Given the description of an element on the screen output the (x, y) to click on. 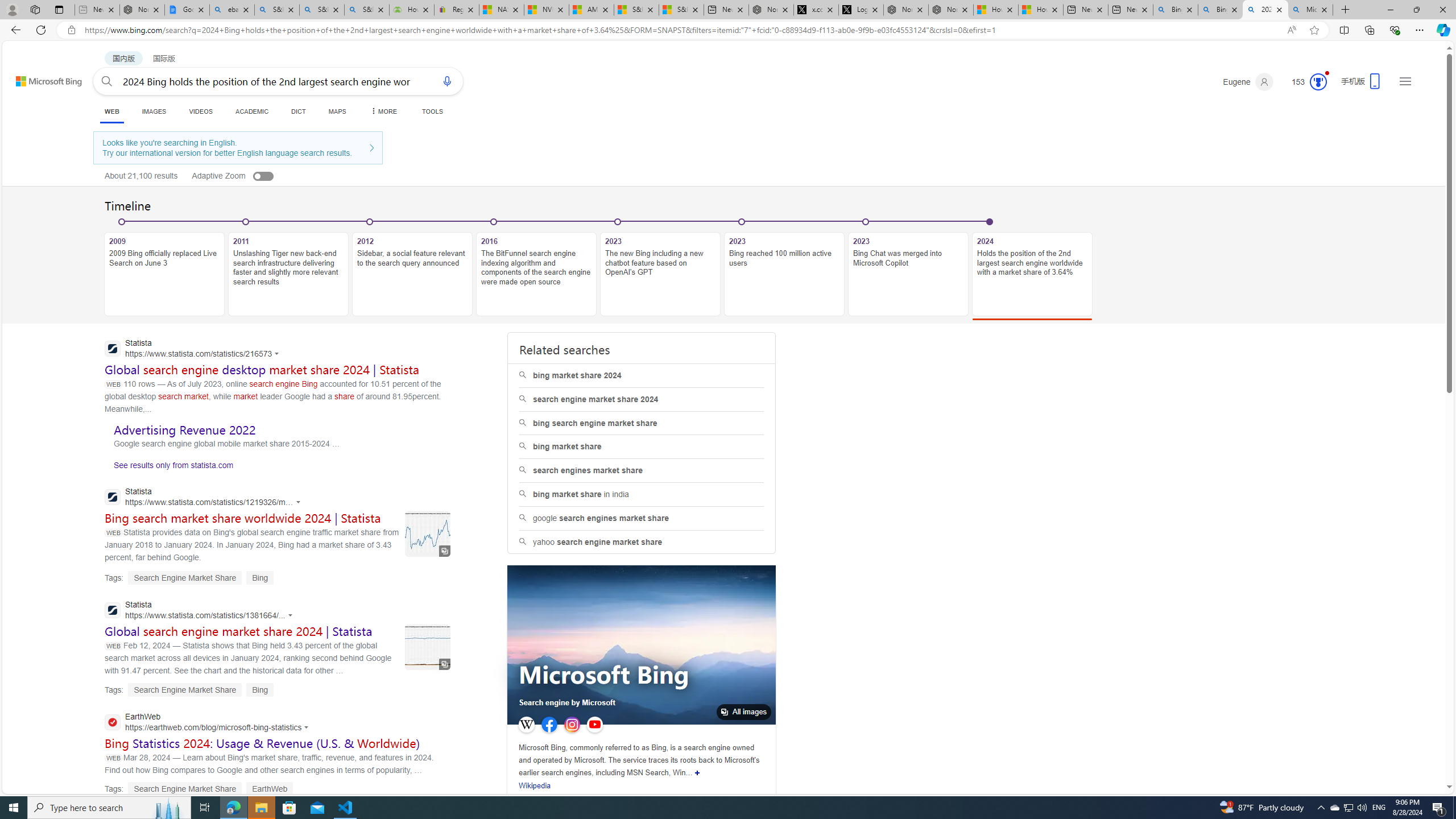
S&P 500 index financial crisis decline - Search (366, 9)
search engines market share (641, 470)
Register: Create a personal eBay account (456, 9)
bing search engine market share (641, 423)
Skip to content (35, 76)
bing market share 2024 (641, 375)
2023 Bing reached 100 million active users (784, 273)
